Given the description of an element on the screen output the (x, y) to click on. 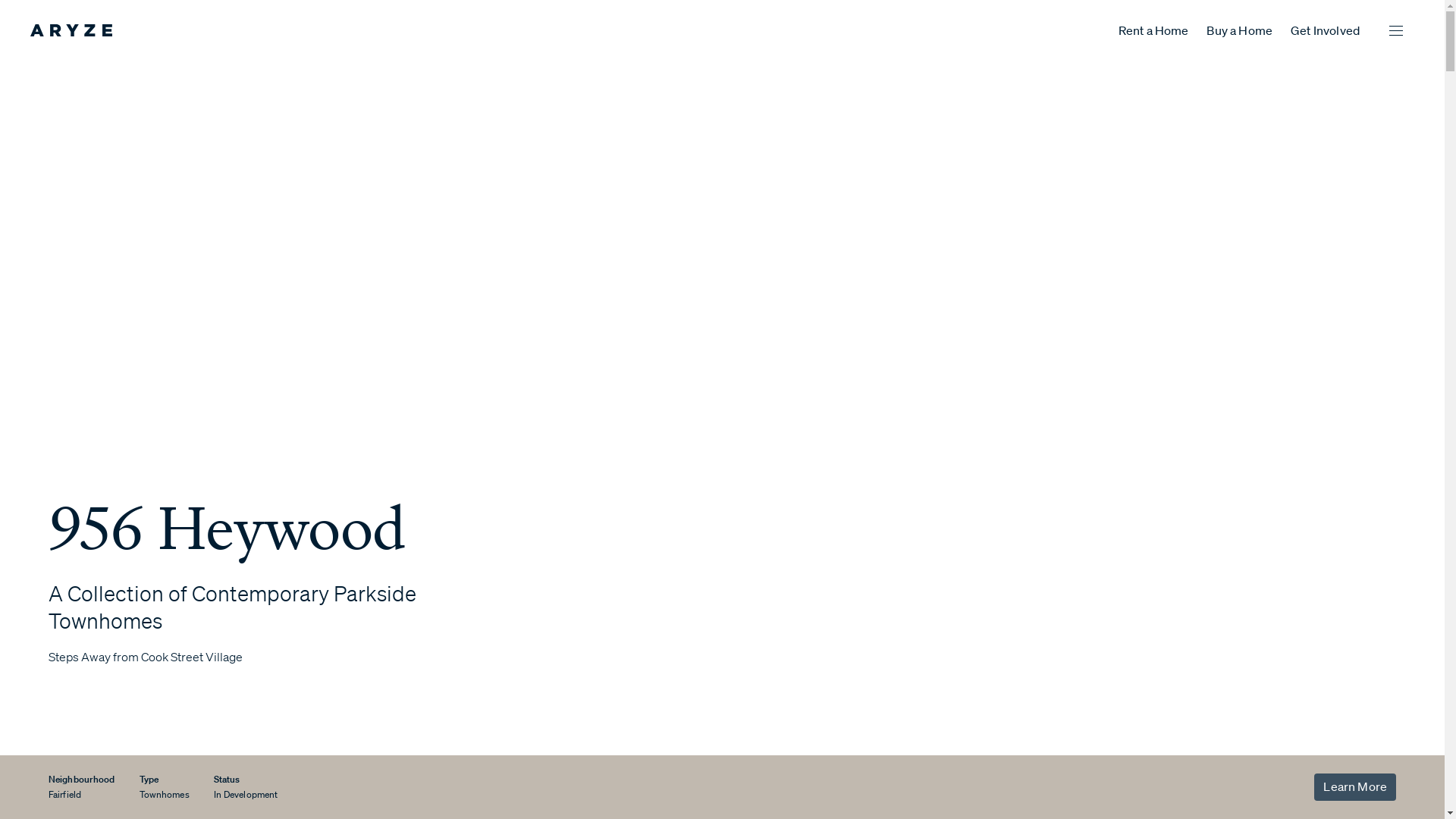
Get Involved Element type: text (1324, 29)
Rent a Home Element type: text (1153, 29)
956 Heywood Hero.jpg Element type: hover (1010, 377)
Buy a Home Element type: text (1239, 29)
